Given the description of an element on the screen output the (x, y) to click on. 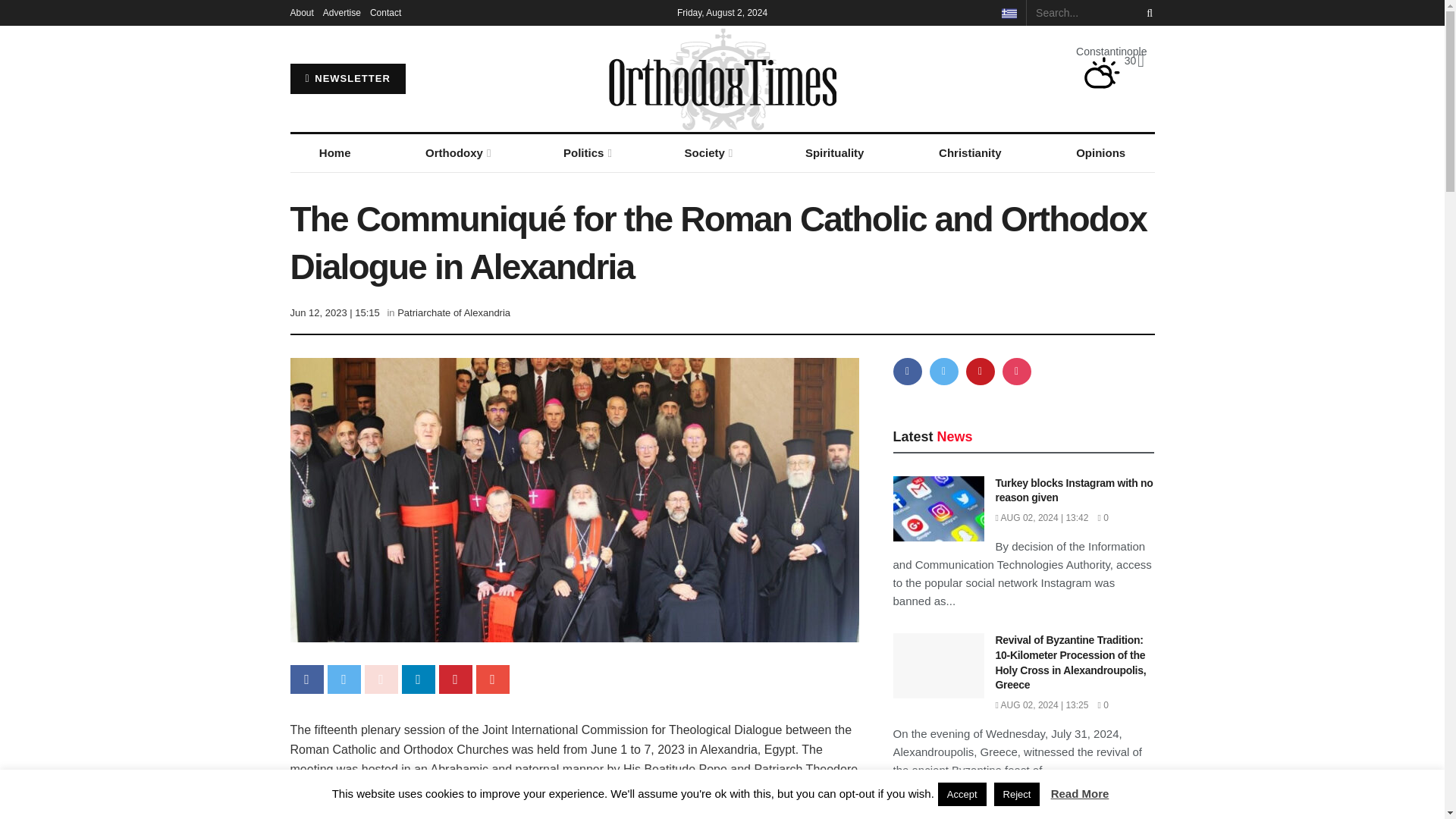
NEWSLETTER (346, 78)
Advertise (342, 12)
About (301, 12)
Politics (586, 152)
Society (706, 152)
Contact (385, 12)
Orthodoxy (457, 152)
Home (333, 152)
Spirituality (834, 152)
